Given the description of an element on the screen output the (x, y) to click on. 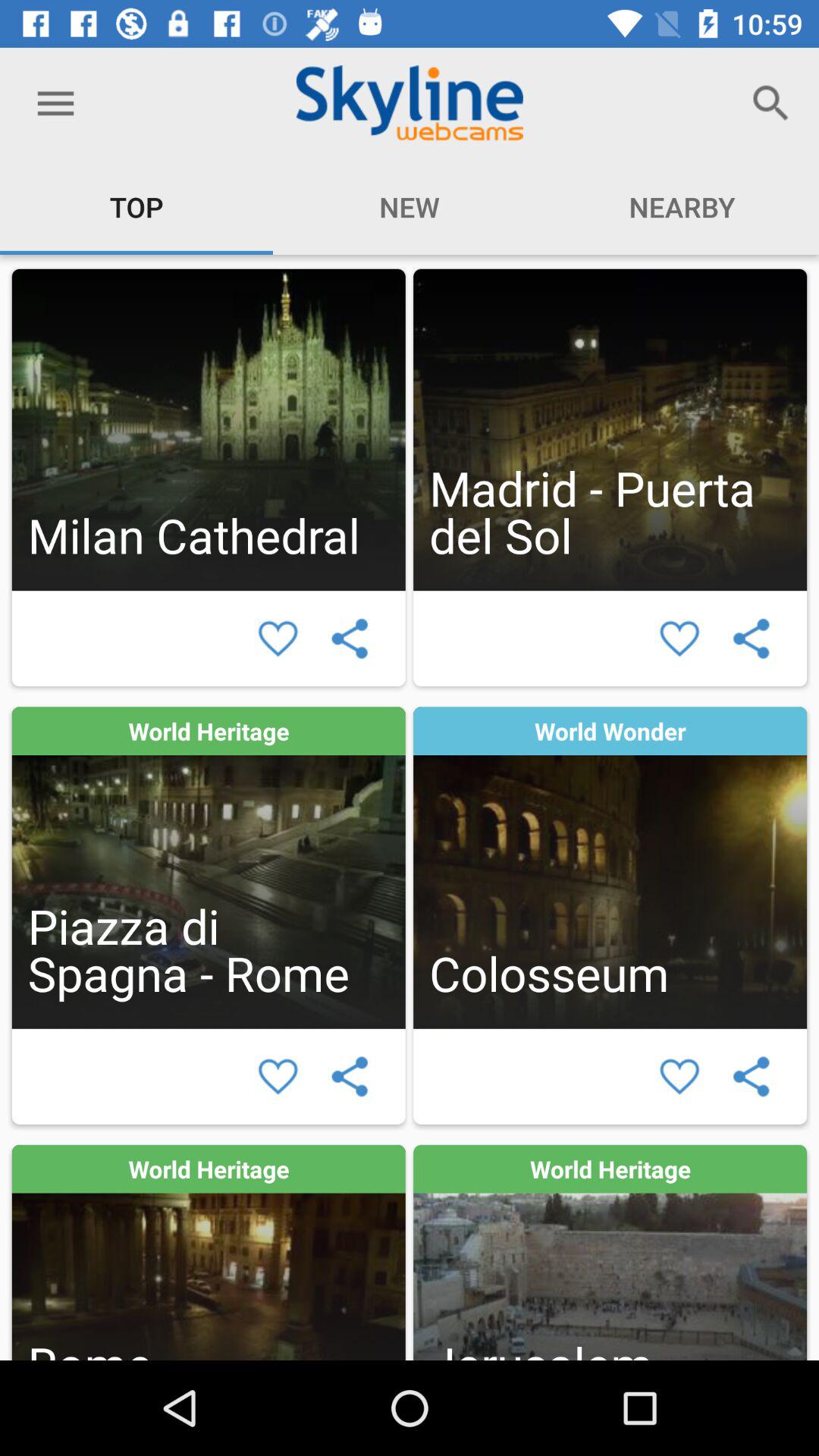
image access (610, 867)
